Given the description of an element on the screen output the (x, y) to click on. 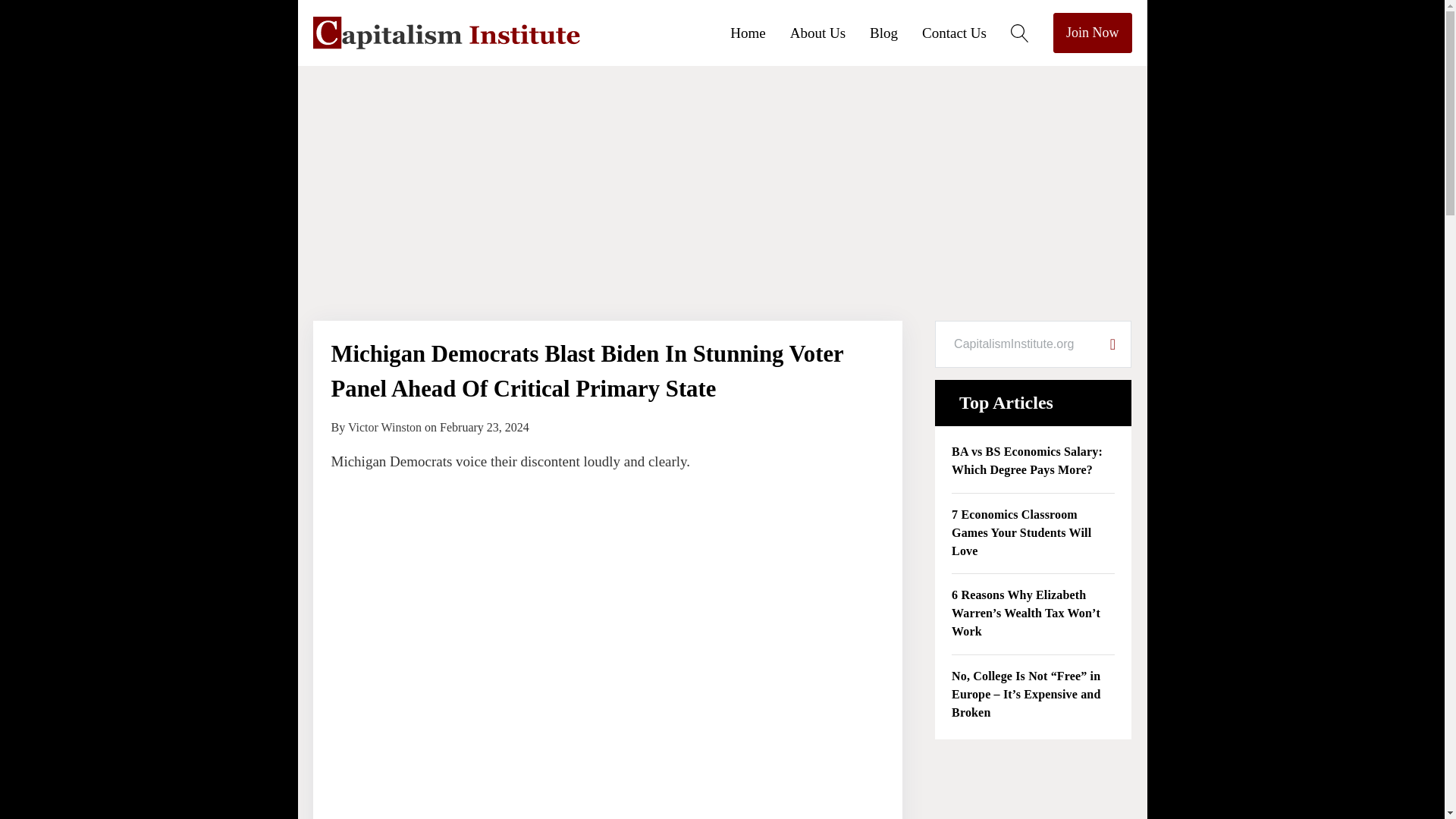
7 Economics Classroom Games Your Students Will Love (1033, 533)
Victor Winston (384, 427)
Search for: (1015, 343)
Contact Us (965, 32)
Blog (895, 32)
BA vs BS Economics Salary: Which Degree Pays More? (1033, 461)
Advertisement (1032, 788)
Join Now (1092, 33)
About Us (829, 32)
